Given the description of an element on the screen output the (x, y) to click on. 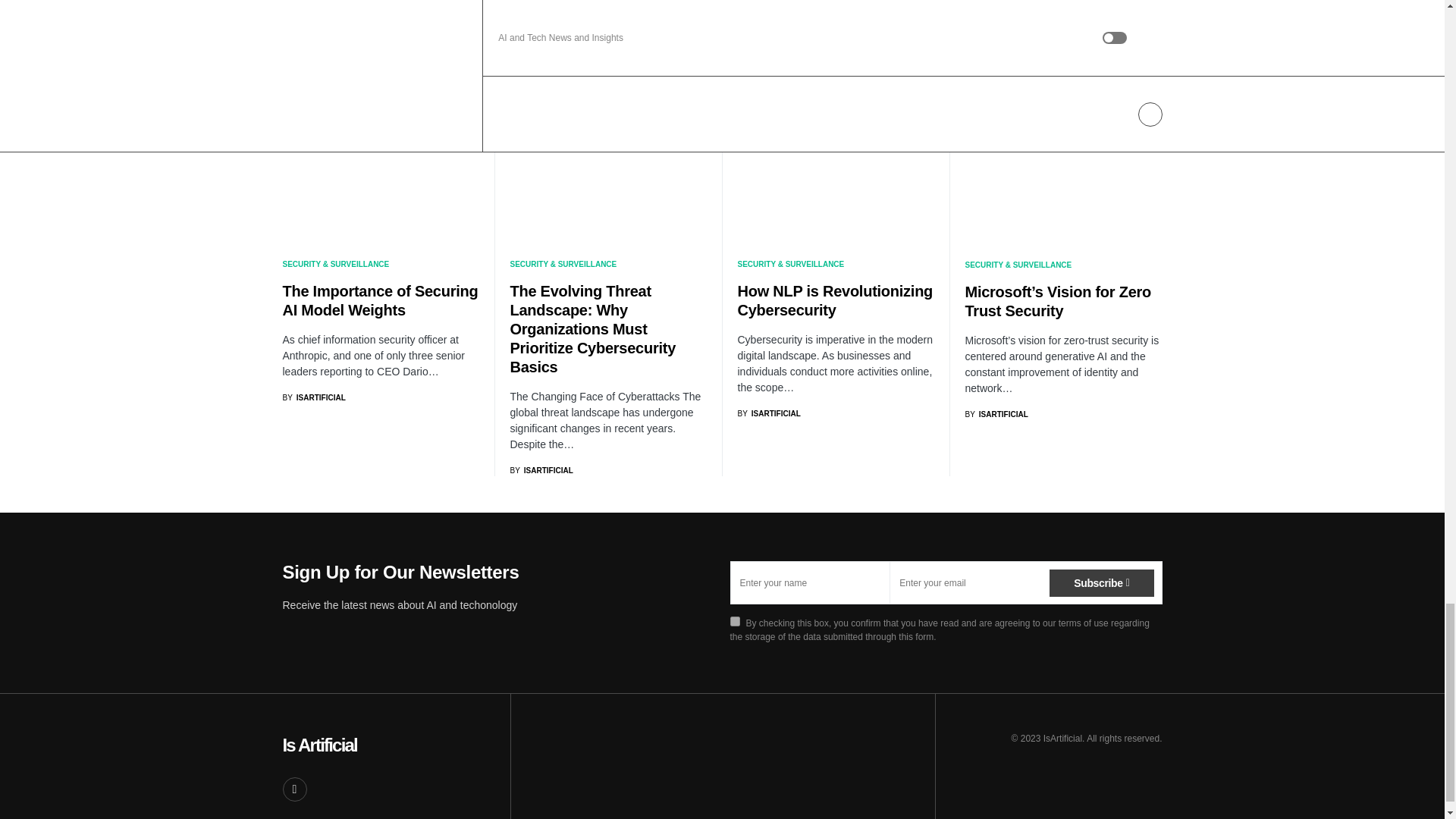
View all posts by IsArtificial (540, 470)
View all posts by IsArtificial (767, 413)
on (734, 621)
View all posts by IsArtificial (313, 397)
View all posts by IsArtificial (995, 414)
